Given the description of an element on the screen output the (x, y) to click on. 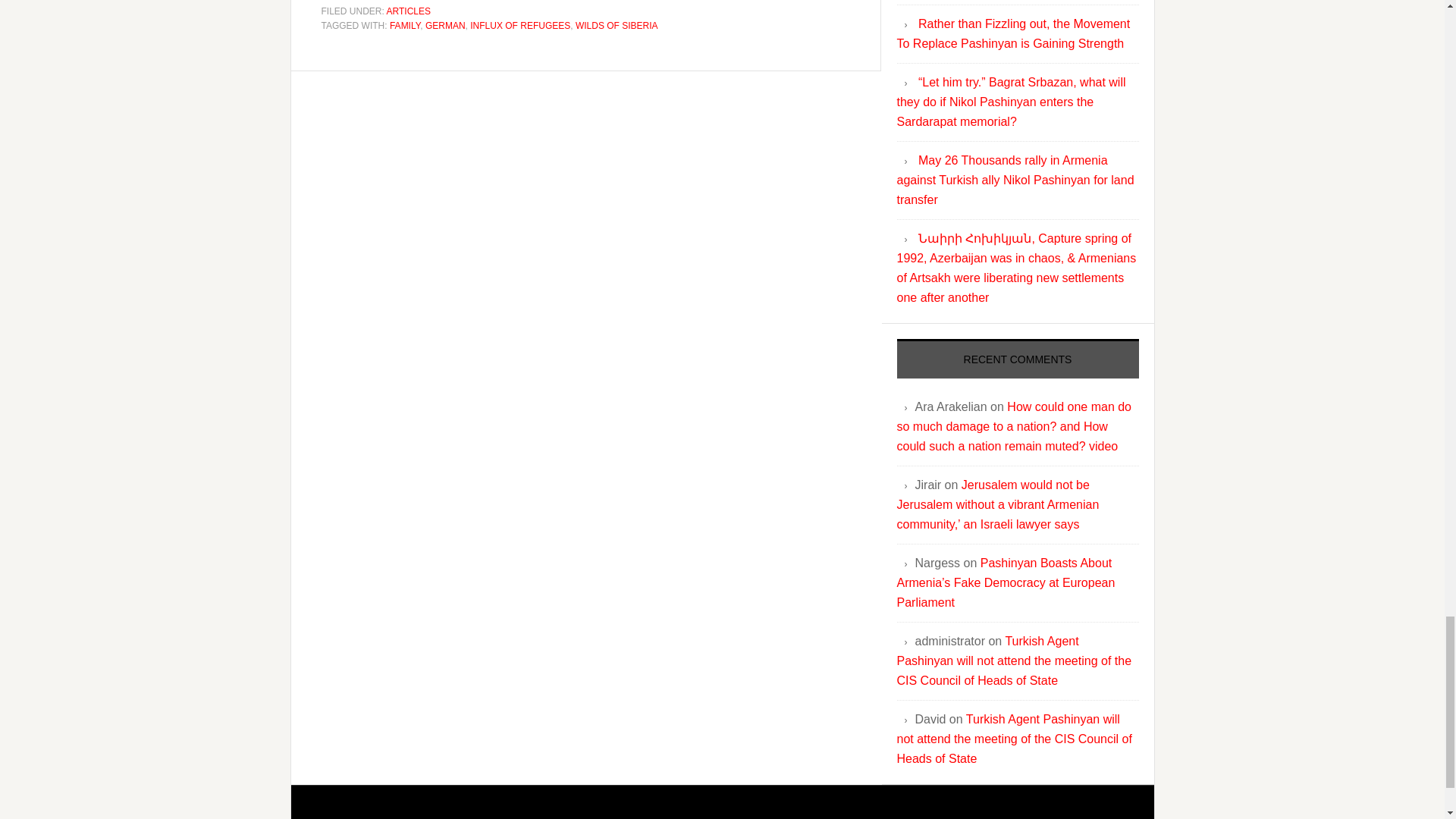
INFLUX OF REFUGEES (520, 25)
FAMILY (405, 25)
ARTICLES (408, 10)
WILDS OF SIBERIA (616, 25)
GERMAN (445, 25)
